Given the description of an element on the screen output the (x, y) to click on. 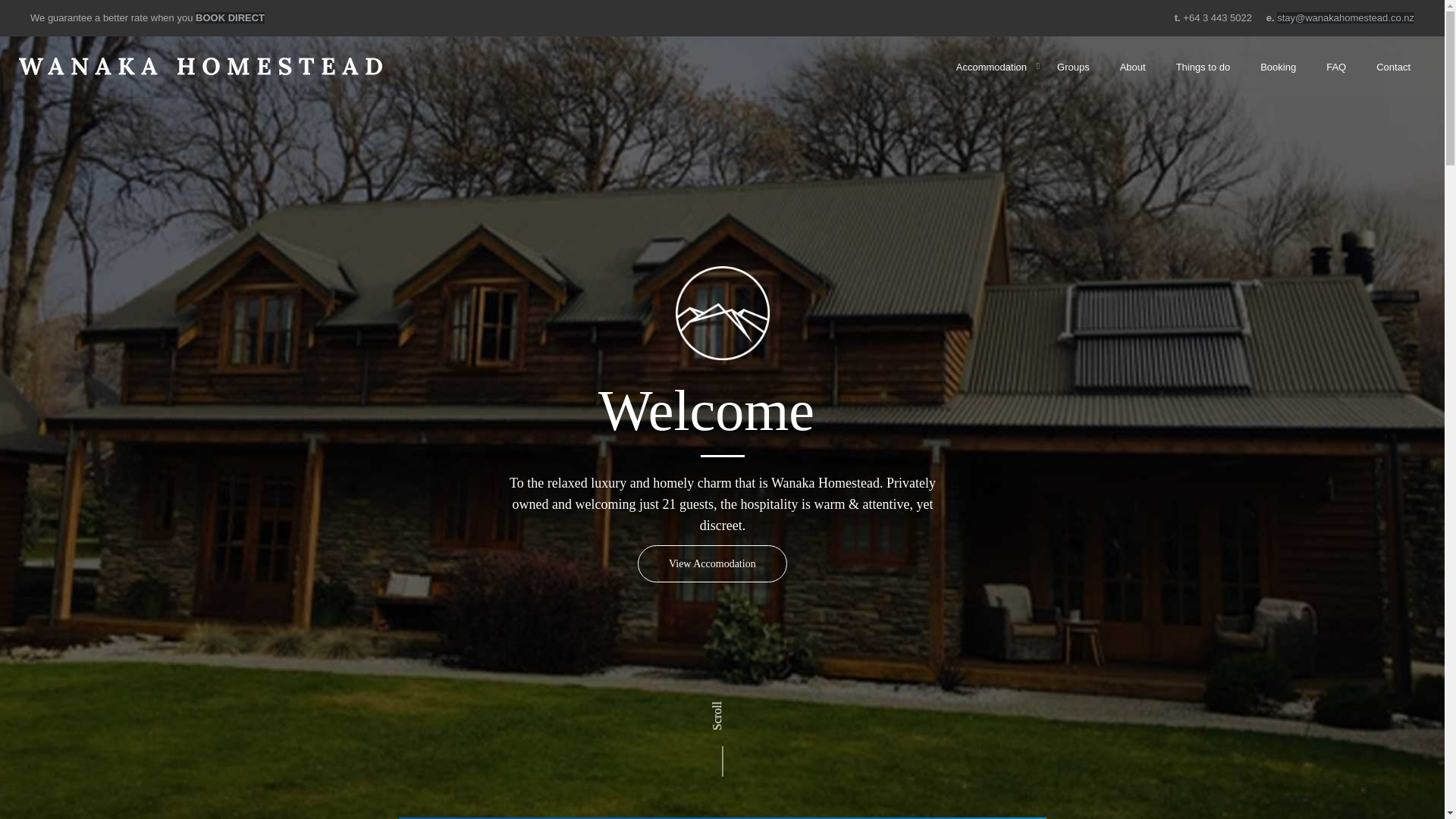
Contact (1393, 66)
FAQ (1336, 66)
Groups (1073, 66)
Accommodation (991, 66)
Booking (1277, 66)
BOOK DIRECT (229, 17)
Things to do (1203, 66)
About (1132, 66)
